Given the description of an element on the screen output the (x, y) to click on. 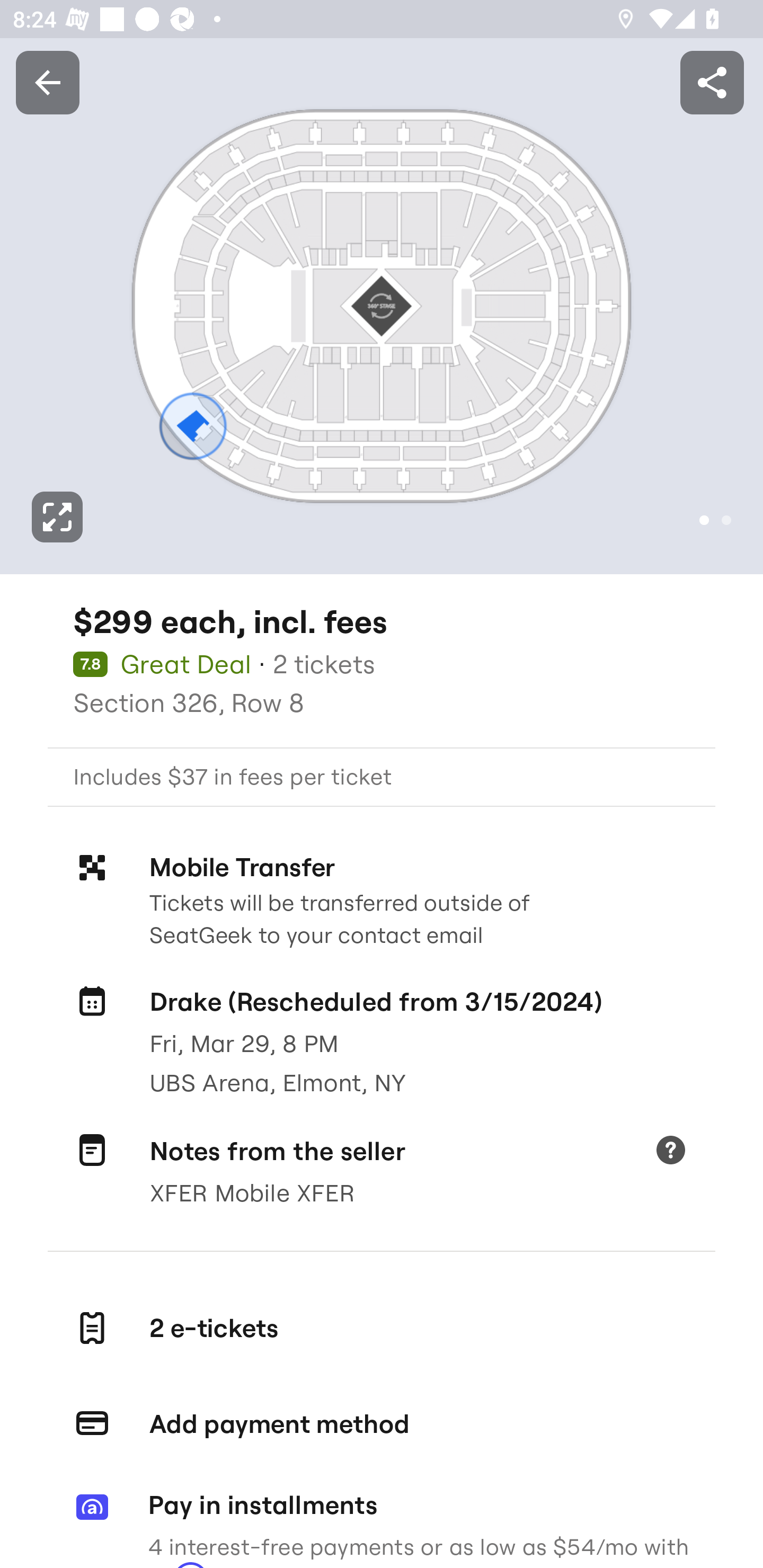
Back (47, 81)
Share (711, 81)
Expand image to fullscreen (57, 517)
Learn more (670, 1151)
2 e-tickets (381, 1328)
Add payment method (381, 1424)
